Given the description of an element on the screen output the (x, y) to click on. 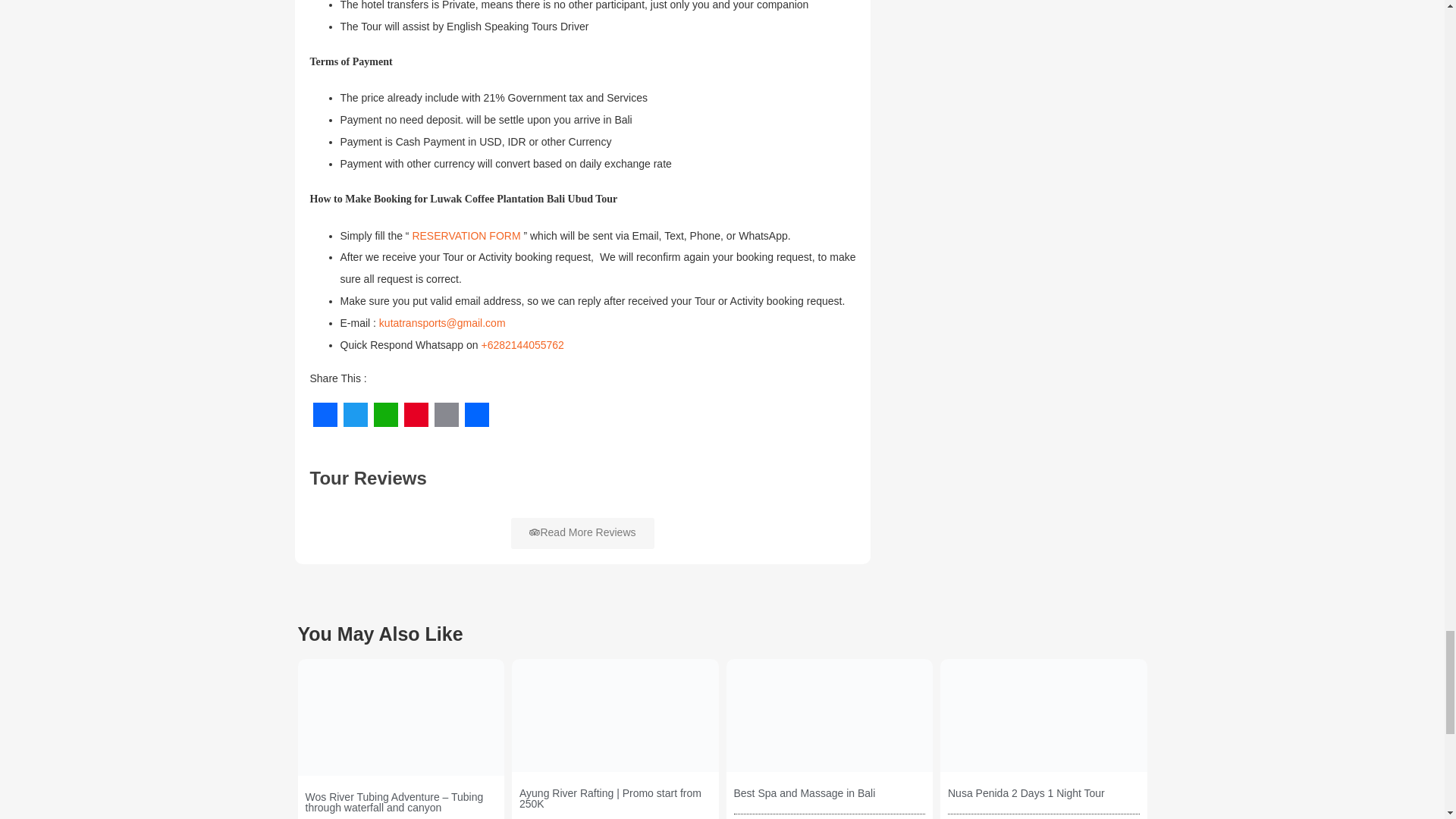
WhatsApp (384, 414)
Email (445, 414)
Facebook (323, 414)
Email (445, 414)
Twitter (354, 414)
WhatsApp (384, 414)
Pinterest (415, 414)
Twitter (354, 414)
Best Spa and Massage in Bali (804, 793)
RESERVATION FORM (465, 236)
